Given the description of an element on the screen output the (x, y) to click on. 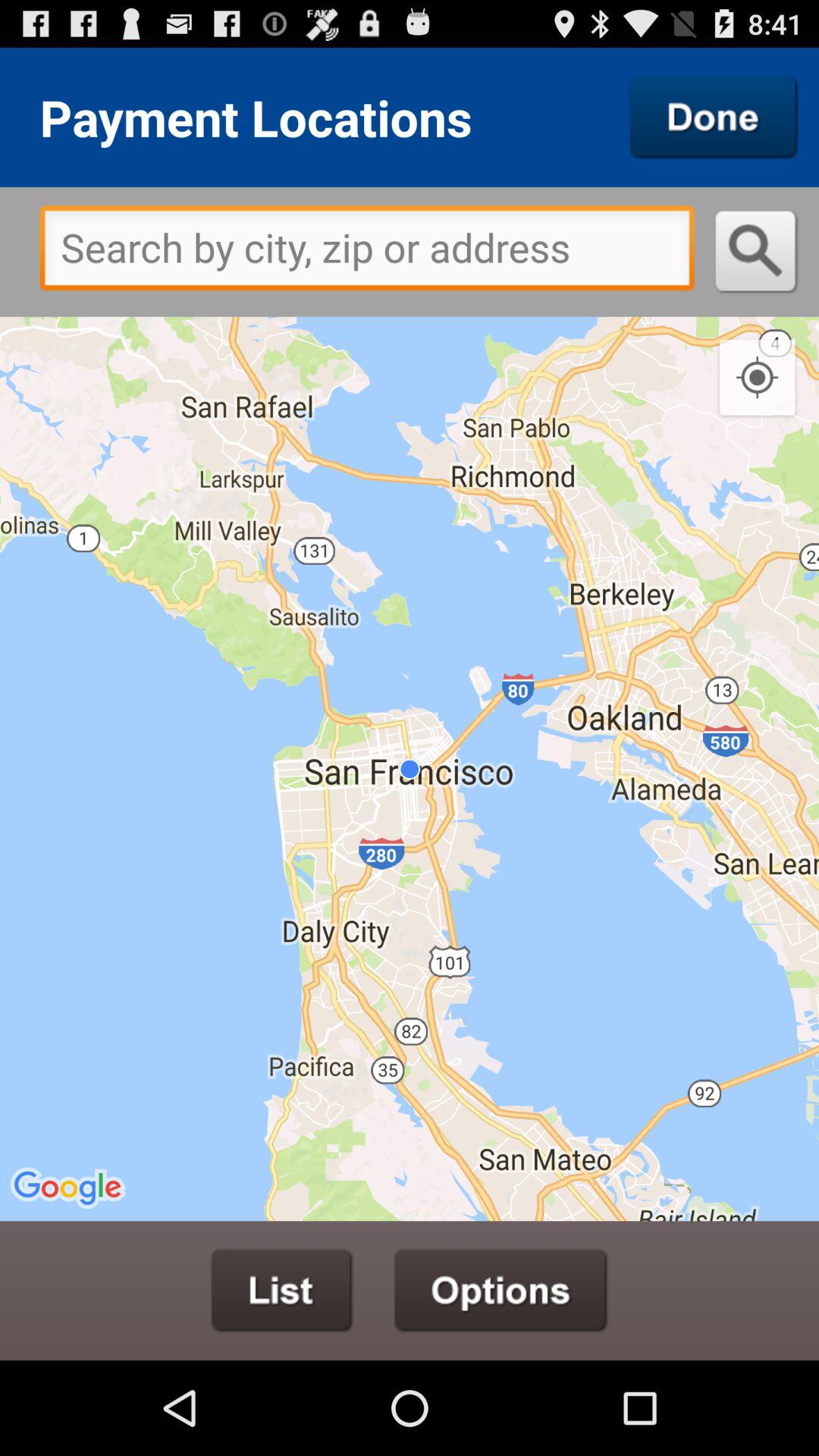
search for location (756, 251)
